Given the description of an element on the screen output the (x, y) to click on. 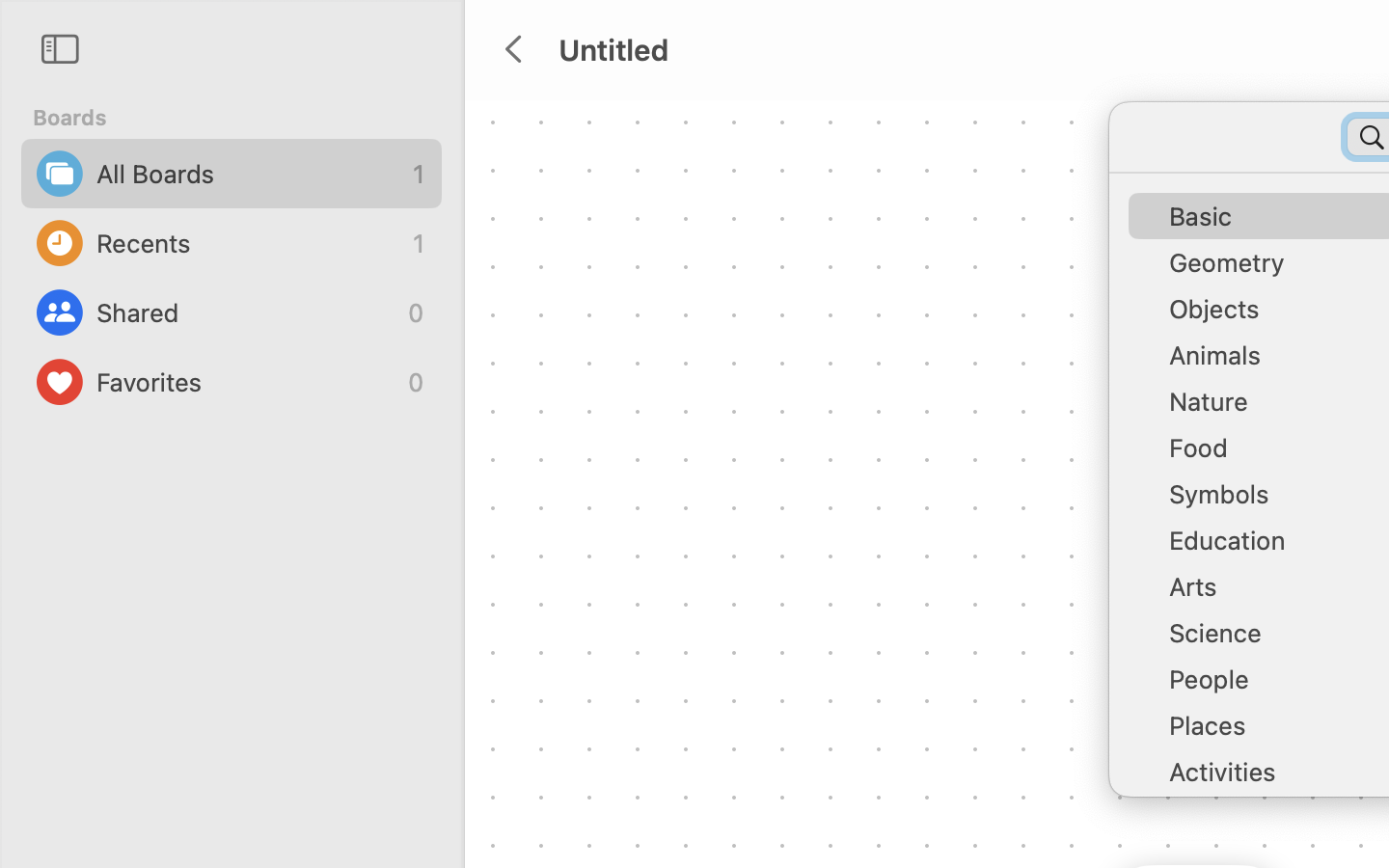
Activities Element type: AXStaticText (1273, 779)
Untitled Element type: AXStaticText (612, 48)
Shared Element type: AXStaticText (246, 312)
Symbols Element type: AXStaticText (1273, 501)
Places Element type: AXStaticText (1273, 732)
